Given the description of an element on the screen output the (x, y) to click on. 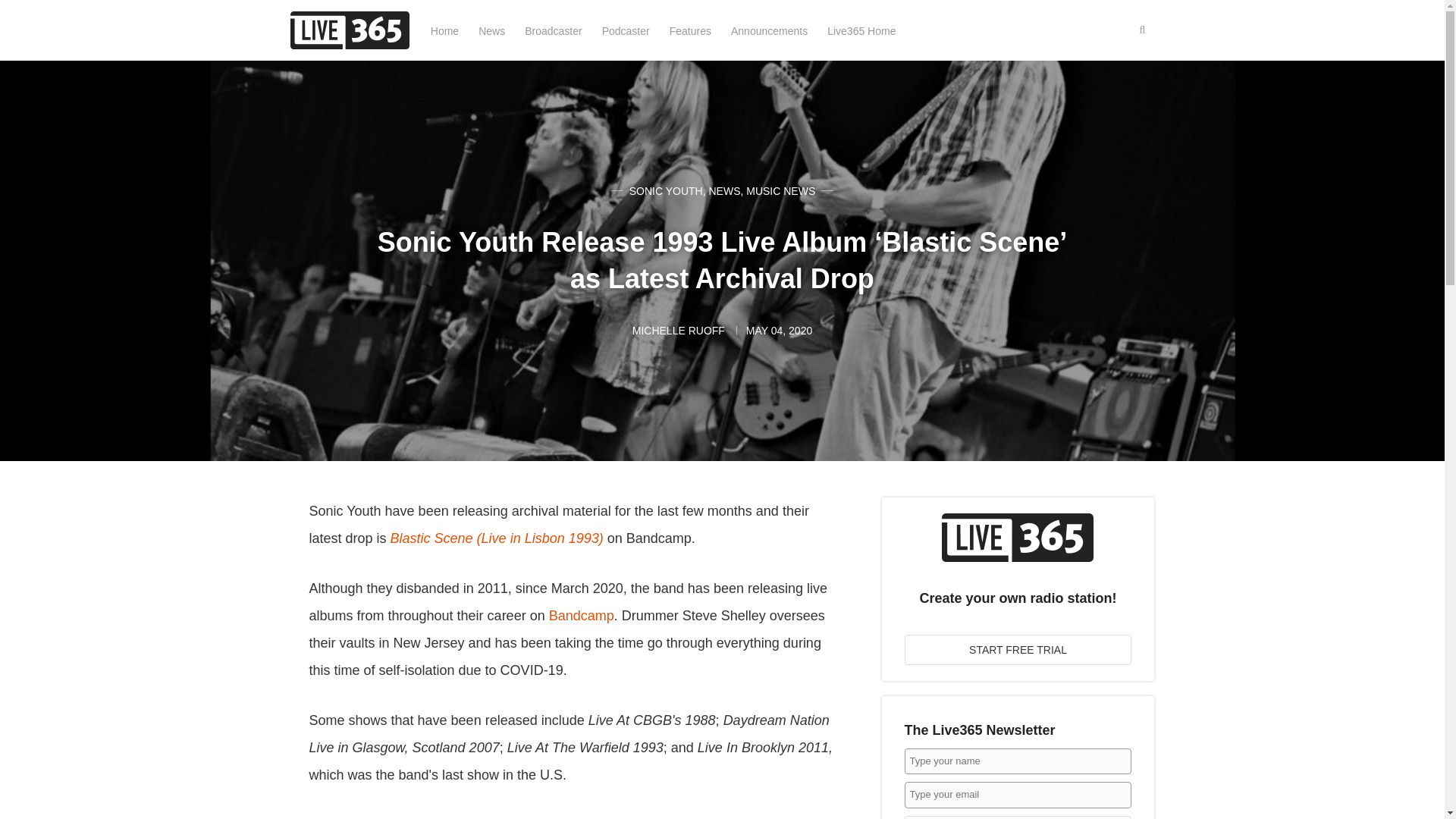
Features (690, 30)
Broadcaster (552, 30)
News (492, 30)
Home (444, 30)
Podcaster (625, 30)
Bandcamp (581, 615)
Live365 Home (861, 30)
MUSIC NEWS (780, 191)
Announcements (769, 30)
NEWS (723, 191)
START FREE TRIAL (1017, 649)
SONIC YOUTH (665, 191)
MICHELLE RUOFF (679, 330)
